Given the description of an element on the screen output the (x, y) to click on. 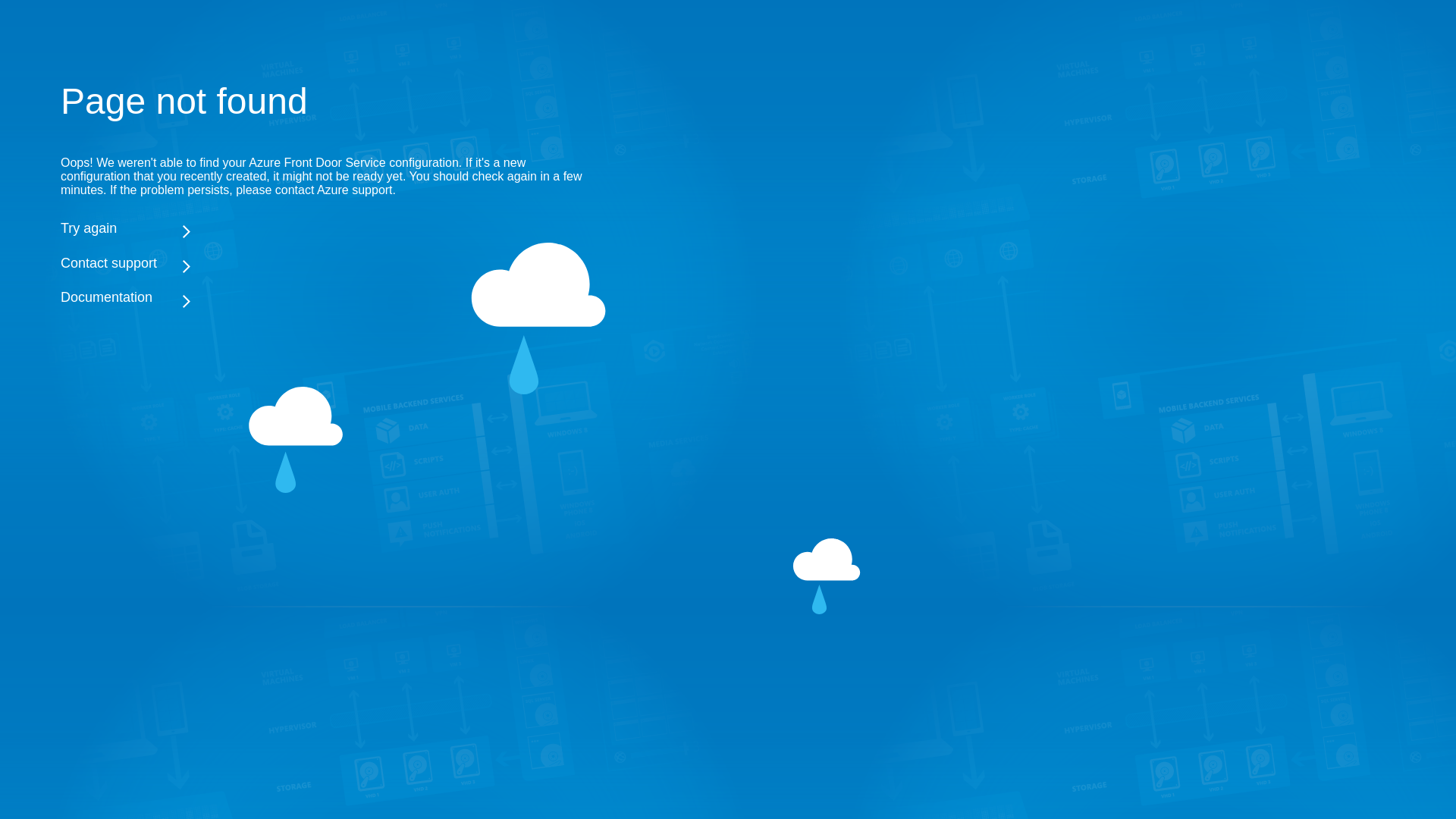
Contact support (326, 262)
Documentation (326, 297)
Try again (326, 228)
